Given the description of an element on the screen output the (x, y) to click on. 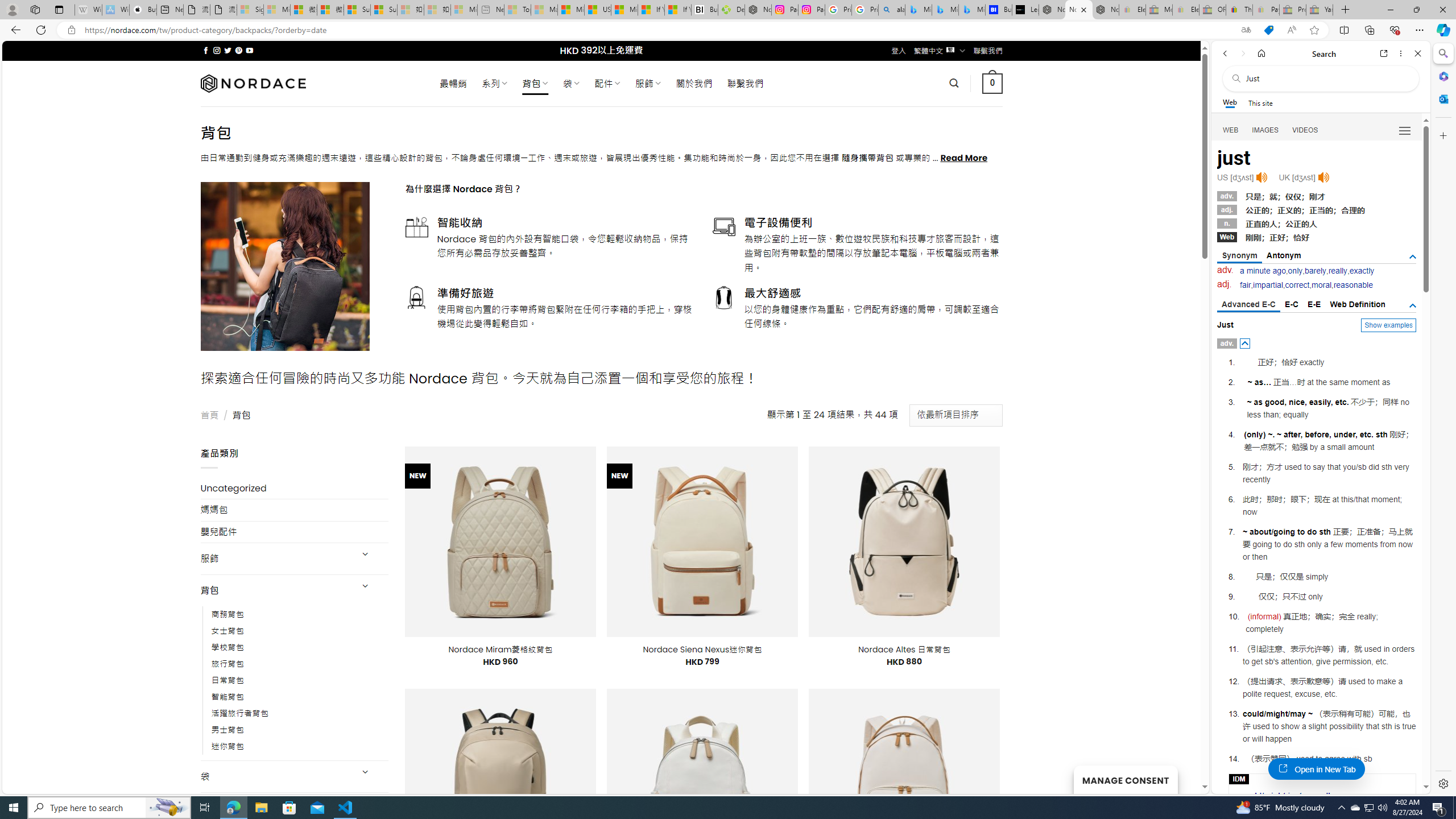
exactly (1361, 270)
Threats and offensive language policy | eBay (1239, 9)
really (1337, 270)
Advanced E-C (1248, 305)
